Given the description of an element on the screen output the (x, y) to click on. 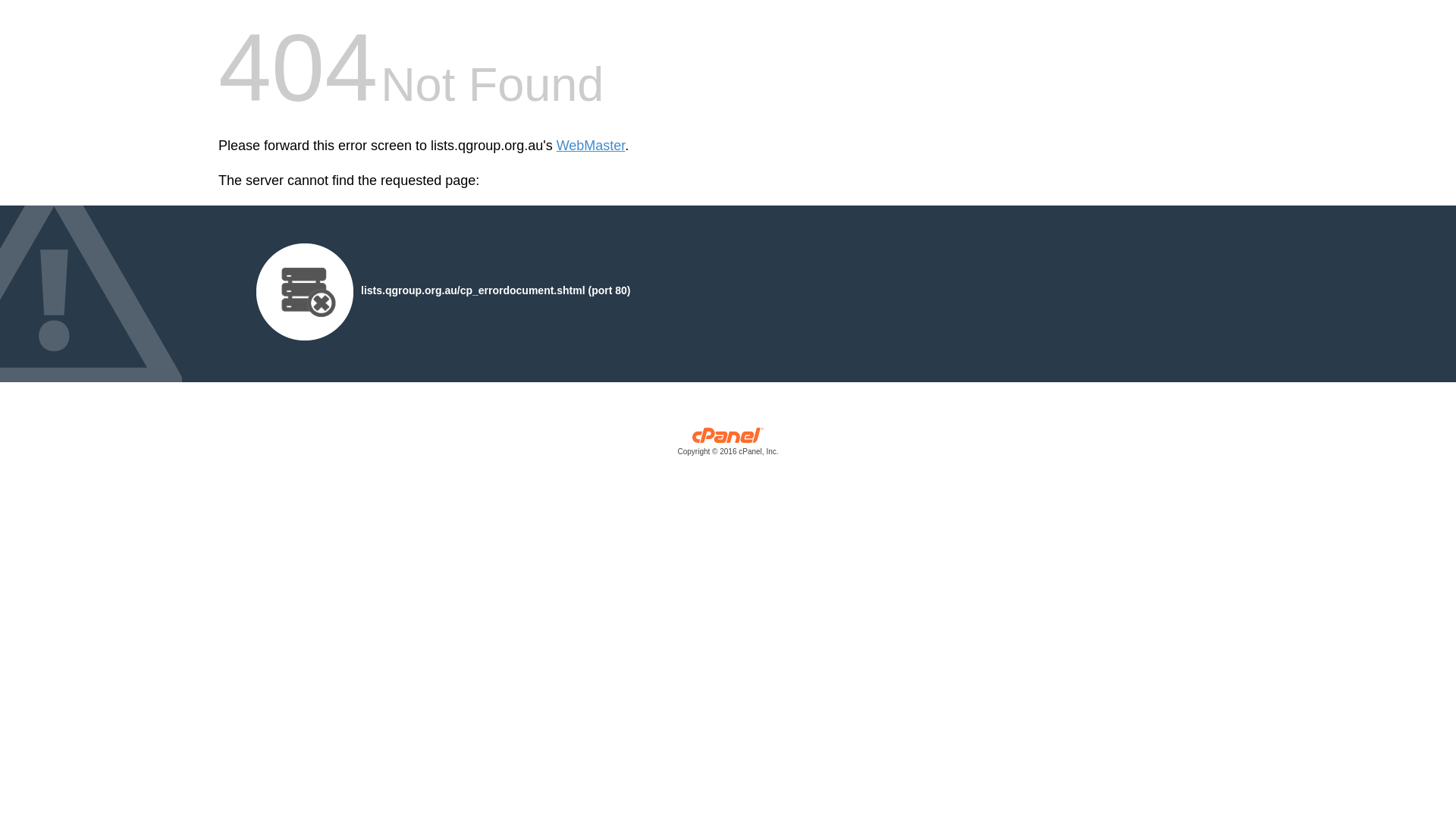
WebMaster Element type: text (590, 145)
